Given the description of an element on the screen output the (x, y) to click on. 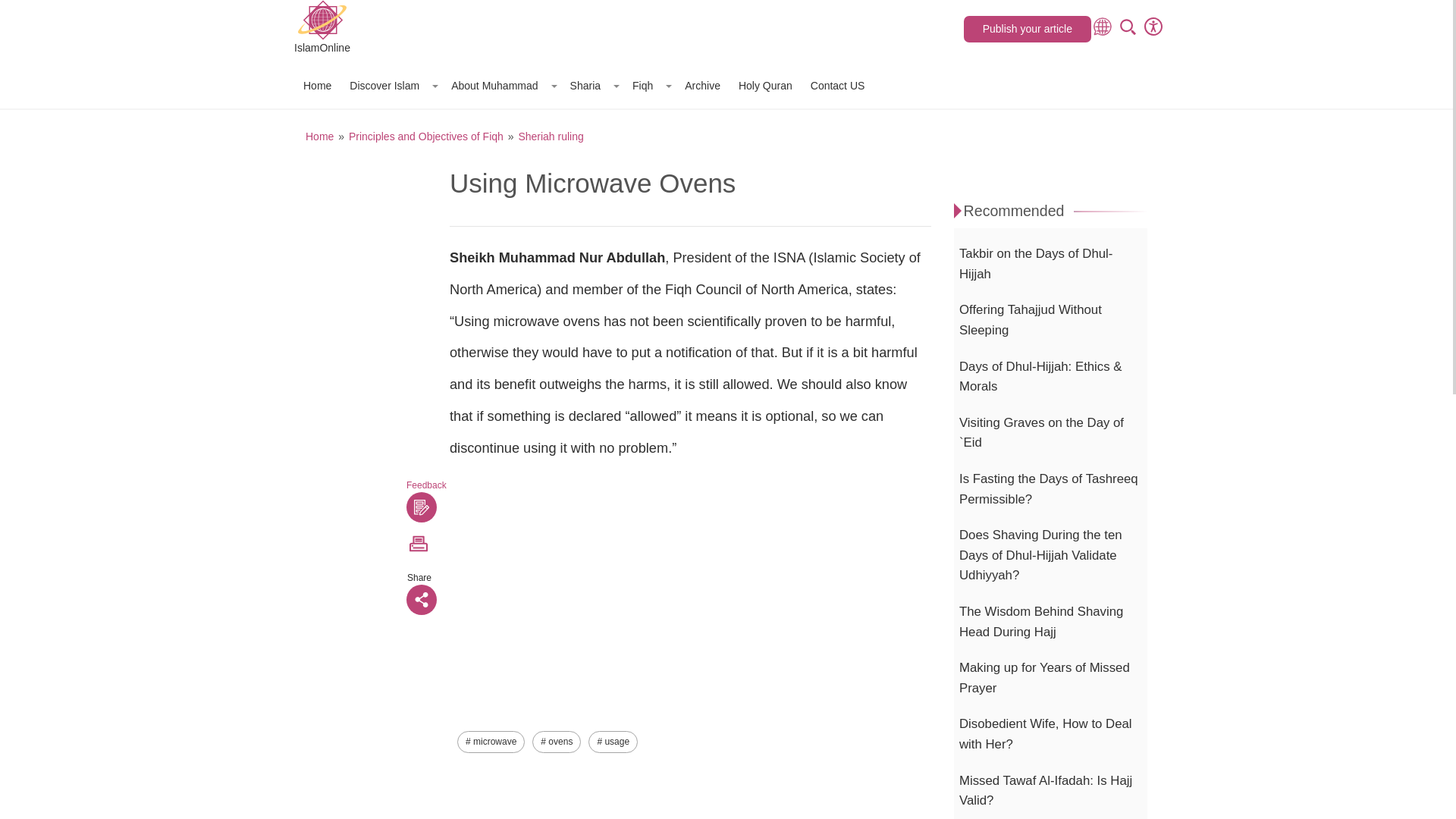
Home (316, 85)
IslamOnline (322, 28)
Publish your article (1026, 28)
Archive (702, 85)
Discover Islam (390, 85)
Print (418, 543)
Sharia (592, 85)
Fiqh (648, 85)
Holy Quran (765, 85)
Contact US (837, 85)
About Muhammad (501, 85)
